Given the description of an element on the screen output the (x, y) to click on. 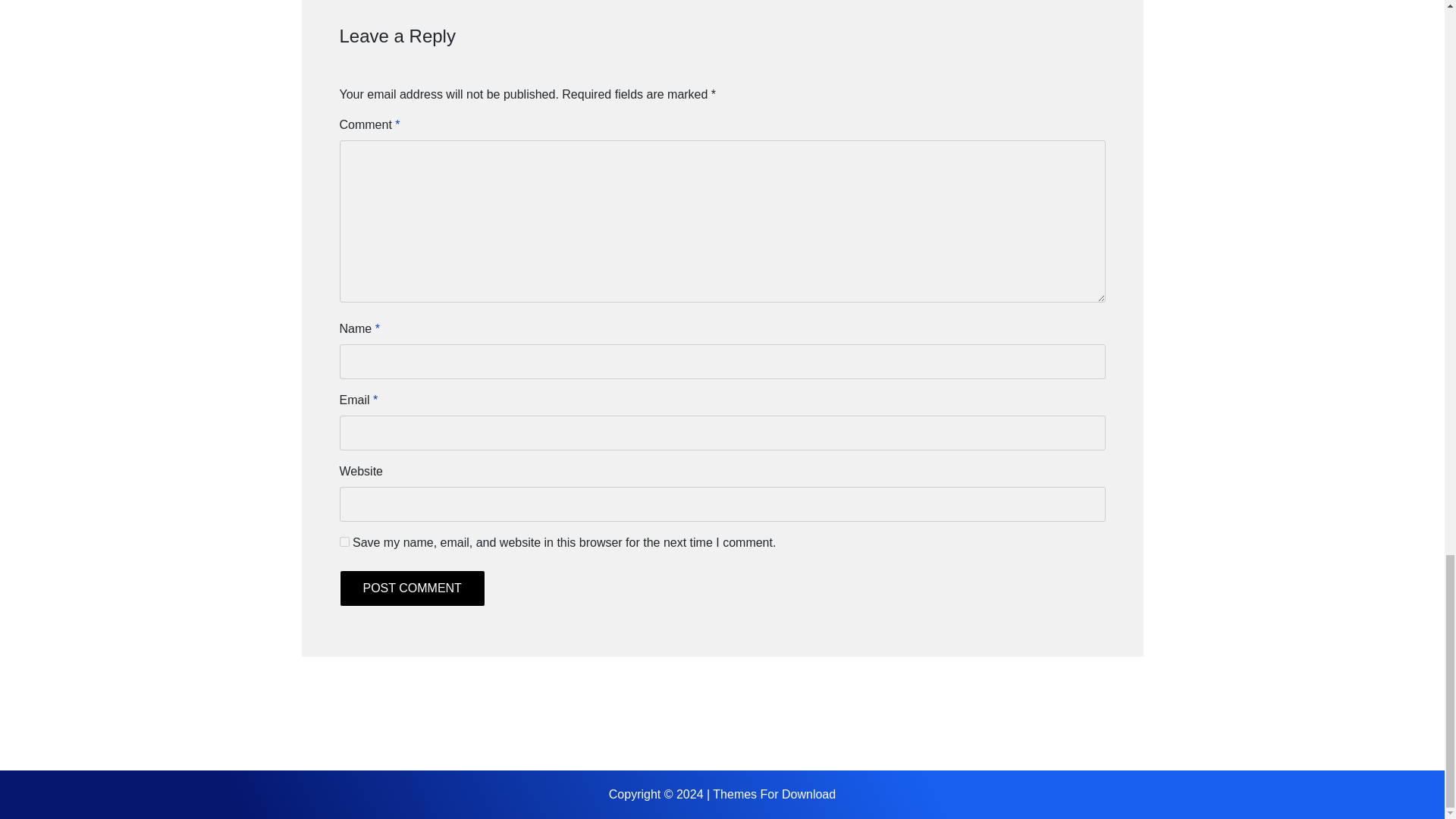
yes (344, 542)
Post Comment (411, 588)
Post Comment (411, 588)
